Given the description of an element on the screen output the (x, y) to click on. 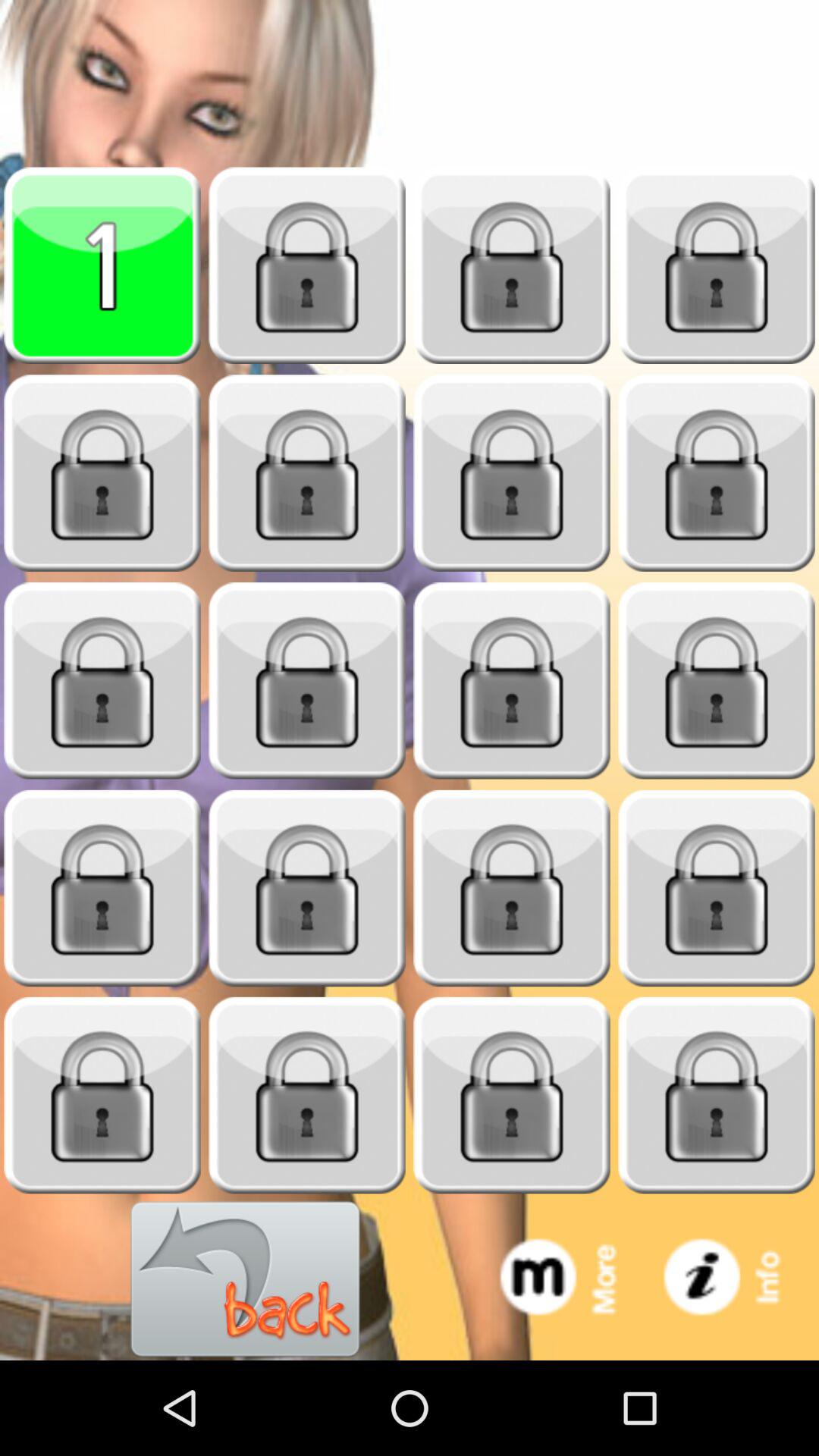
this area is locked (511, 265)
